Given the description of an element on the screen output the (x, y) to click on. 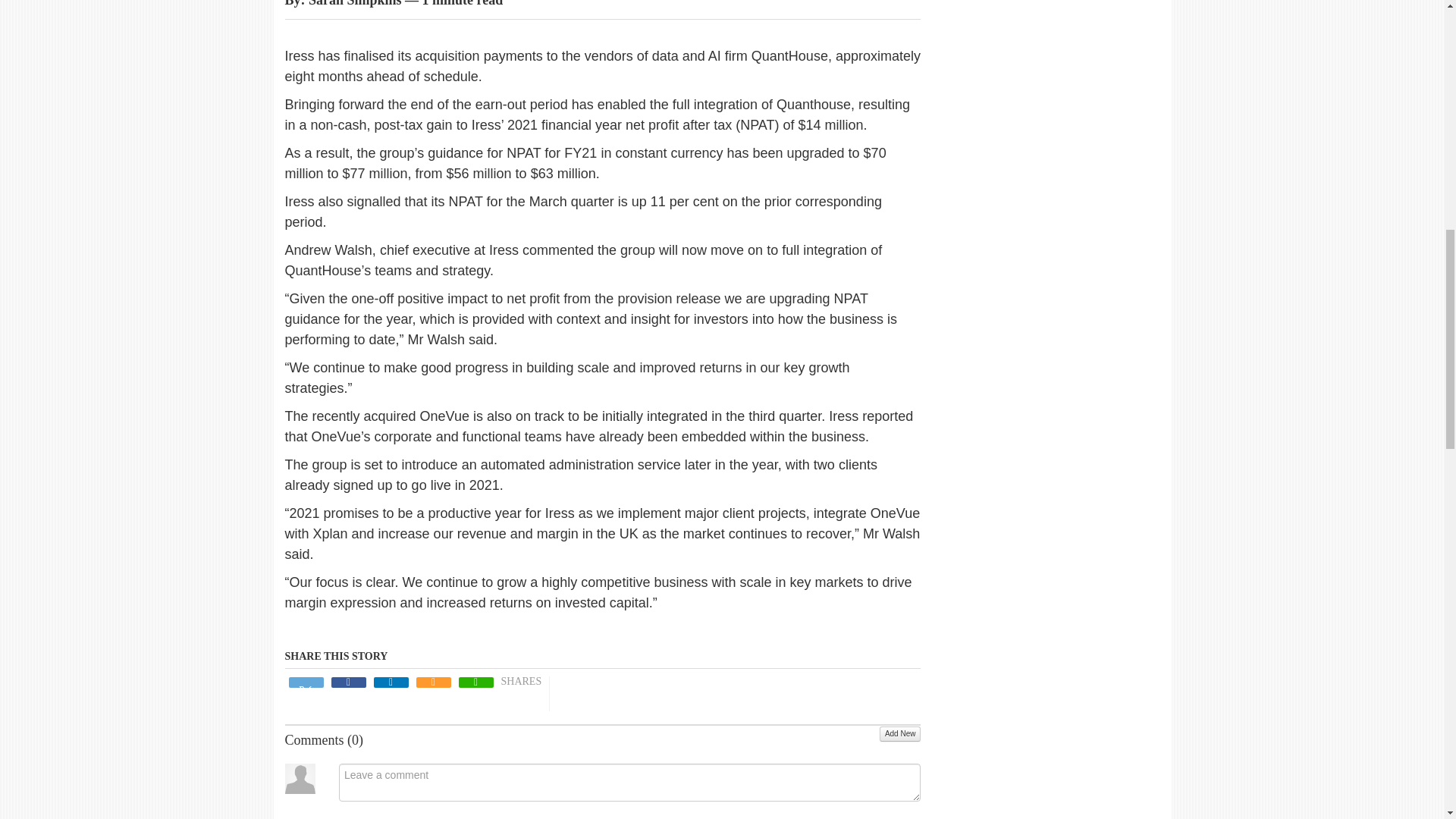
Add New (900, 734)
